Given the description of an element on the screen output the (x, y) to click on. 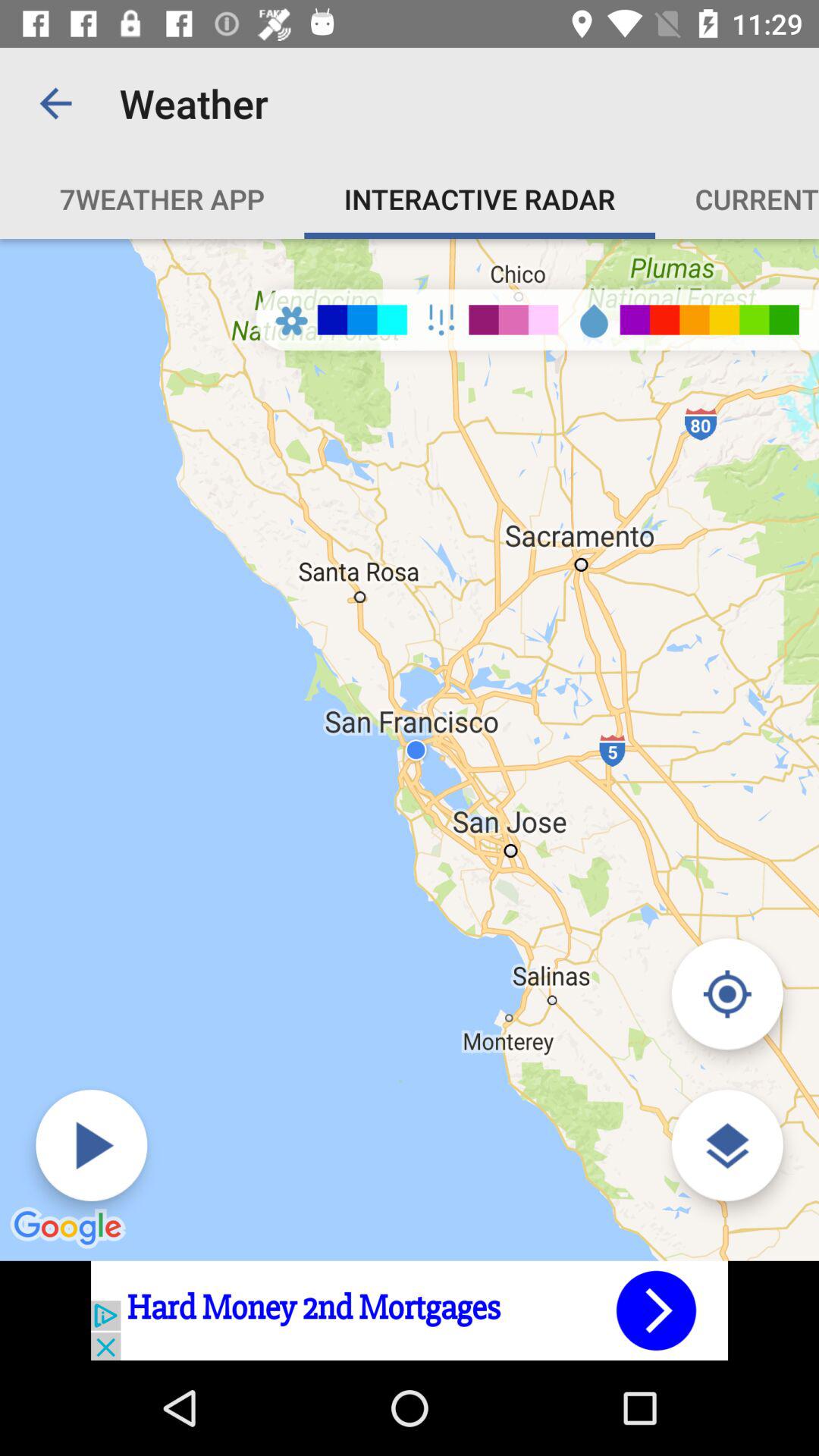
download the app option (409, 1310)
